Given the description of an element on the screen output the (x, y) to click on. 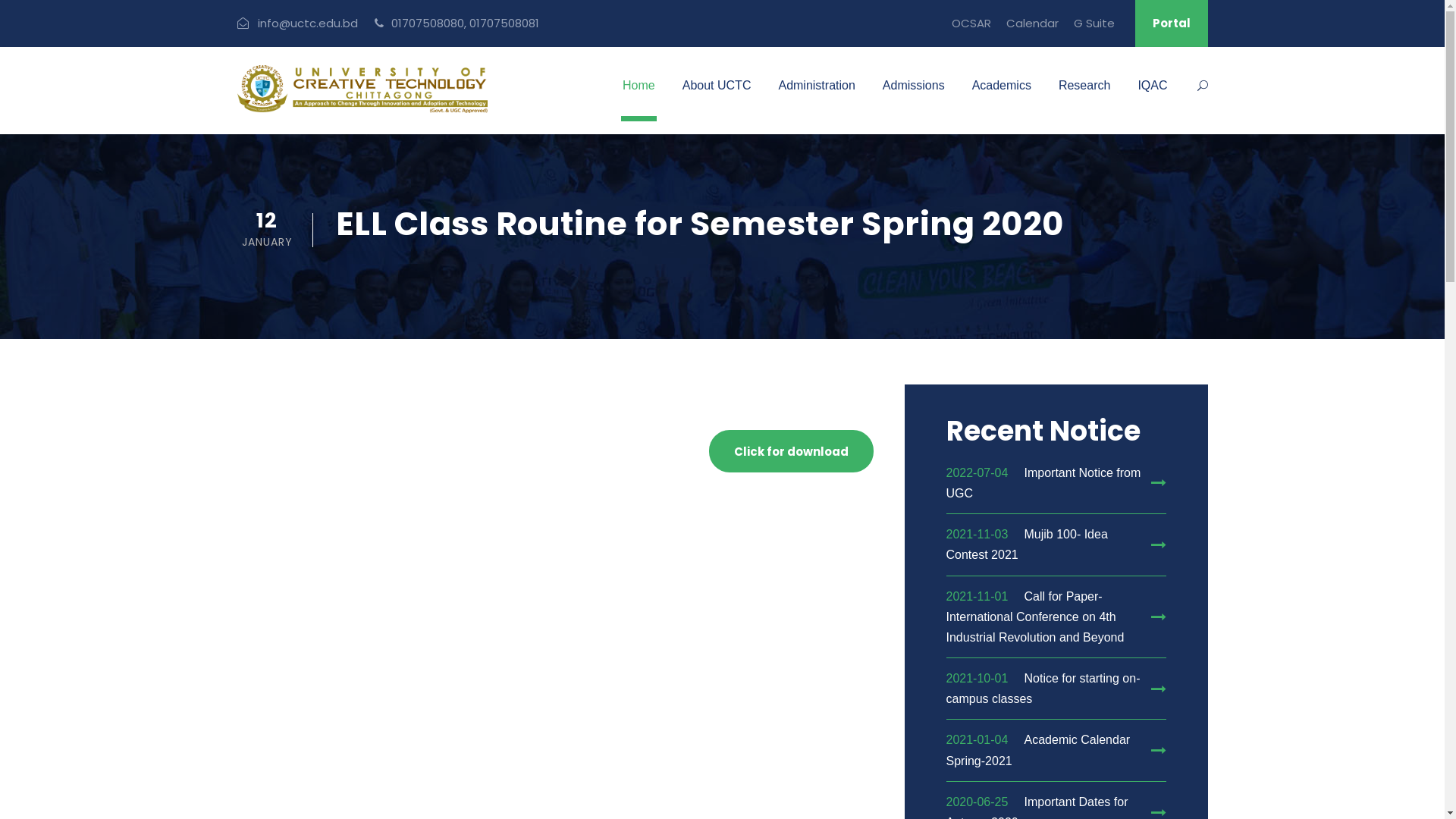
OCSAR Element type: text (970, 29)
Calendar Element type: text (1031, 29)
2021-10-01 Notice for starting on-campus classes Element type: text (1056, 688)
Portal Element type: text (1170, 23)
IQAC Element type: text (1152, 97)
About UCTC Element type: text (716, 97)
Academics Element type: text (1001, 97)
Admissions Element type: text (913, 97)
G Suite Element type: text (1093, 29)
2022-07-04 Important Notice from UGC Element type: text (1056, 482)
Research Element type: text (1084, 97)
2021-11-03 Mujib 100- Idea Contest 2021 Element type: text (1056, 544)
Administration Element type: text (816, 97)
Click for download Element type: text (791, 451)
Home Element type: text (638, 97)
2021-01-04 Academic Calendar Spring-2021 Element type: text (1056, 749)
